Given the description of an element on the screen output the (x, y) to click on. 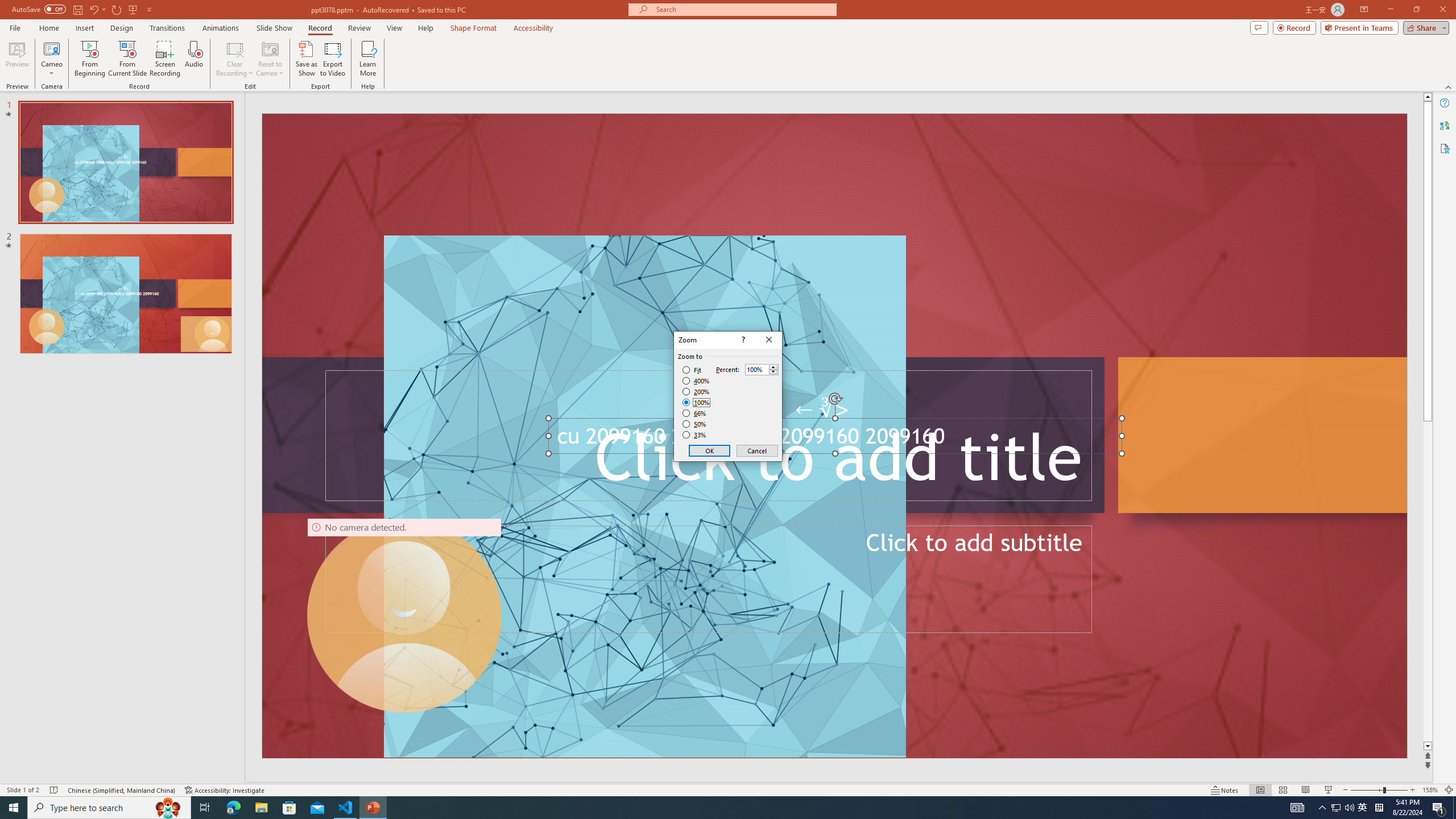
OK (709, 450)
